Given the description of an element on the screen output the (x, y) to click on. 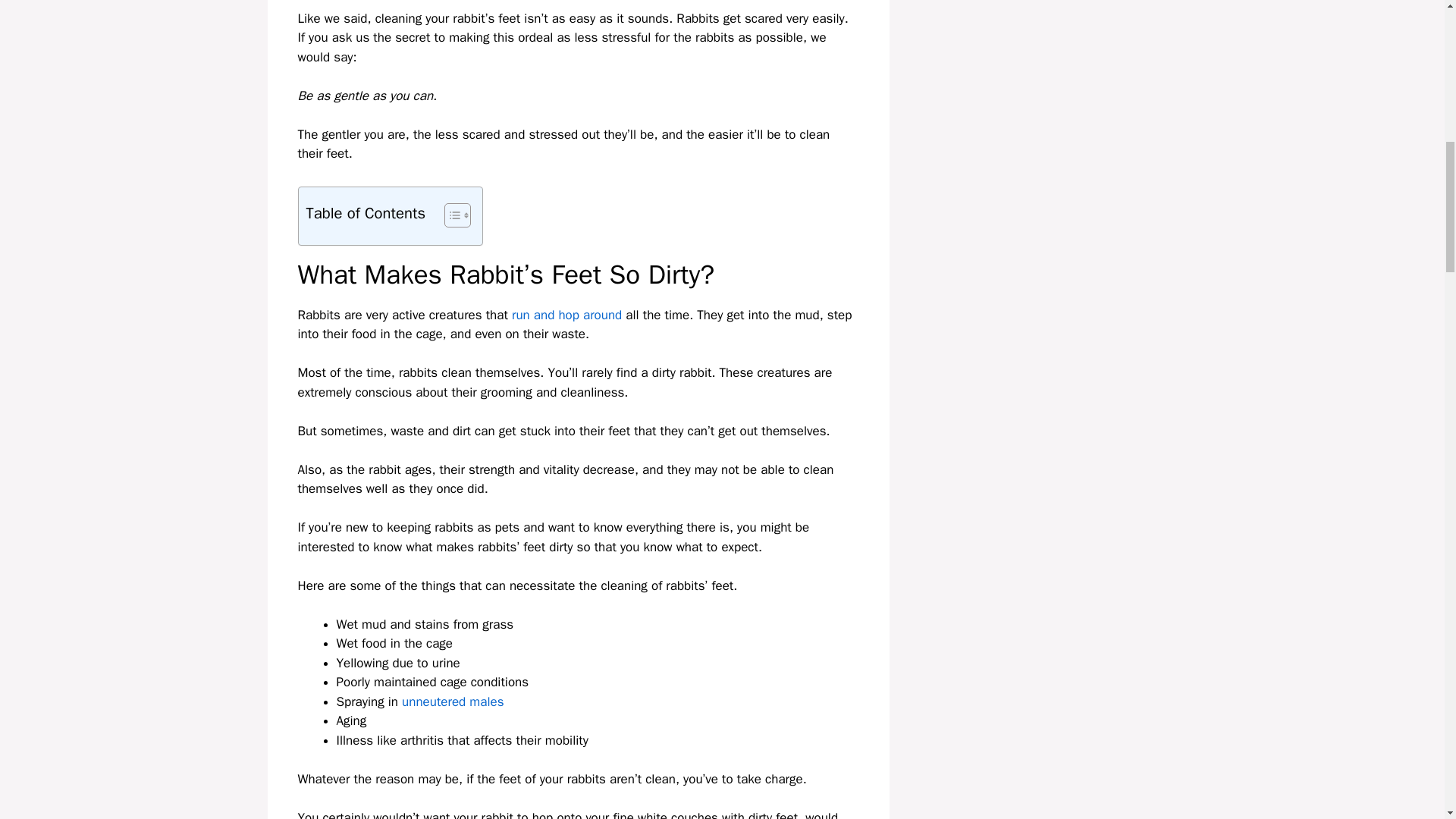
unneutered males (452, 701)
run and hop around (566, 314)
